Given the description of an element on the screen output the (x, y) to click on. 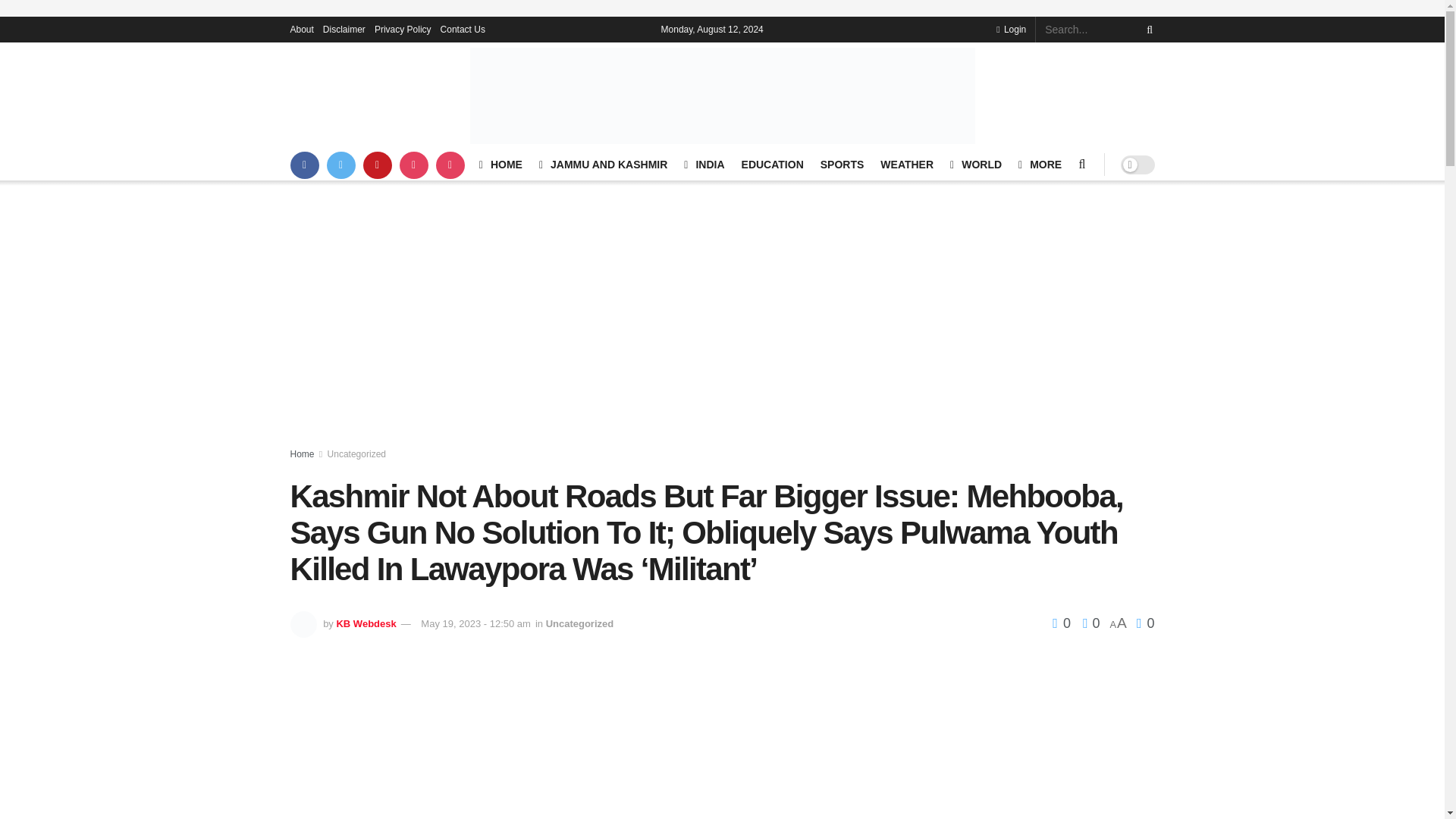
Privacy Policy (402, 29)
MORE (1039, 164)
Disclaimer (344, 29)
EDUCATION (772, 164)
Contact Us (462, 29)
JAMMU AND KASHMIR (602, 164)
SPORTS (842, 164)
HOME (500, 164)
